Given the description of an element on the screen output the (x, y) to click on. 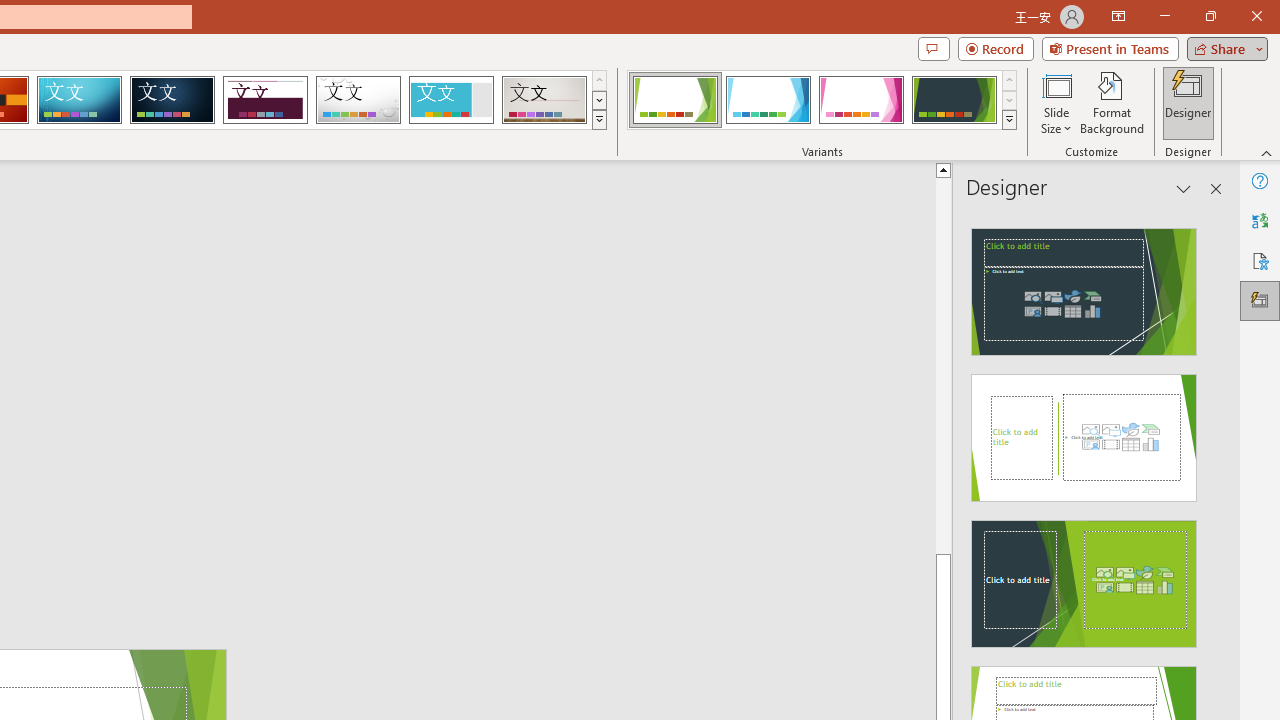
Page up (943, 364)
Frame (450, 100)
Facet Variant 1 (674, 100)
Variants (1009, 120)
Gallery (544, 100)
Facet Variant 2 (768, 100)
Recommended Design: Design Idea (1083, 286)
